Given the description of an element on the screen output the (x, y) to click on. 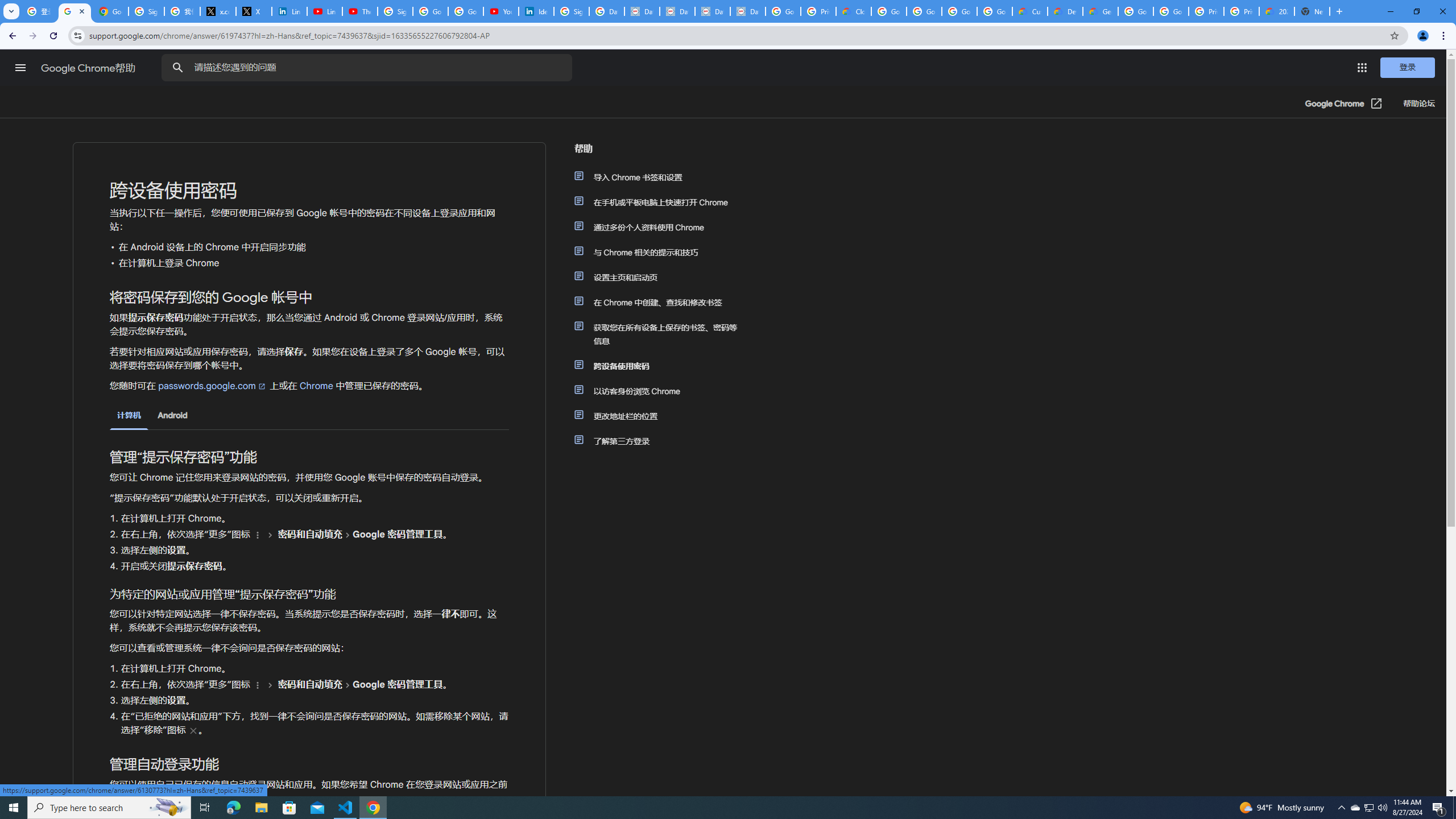
Data Privacy Framework (747, 11)
Google Workspace - Specific Terms (959, 11)
LinkedIn - YouTube (324, 11)
Android (172, 415)
Data Privacy Framework (712, 11)
Google Cloud Platform (1135, 11)
